Given the description of an element on the screen output the (x, y) to click on. 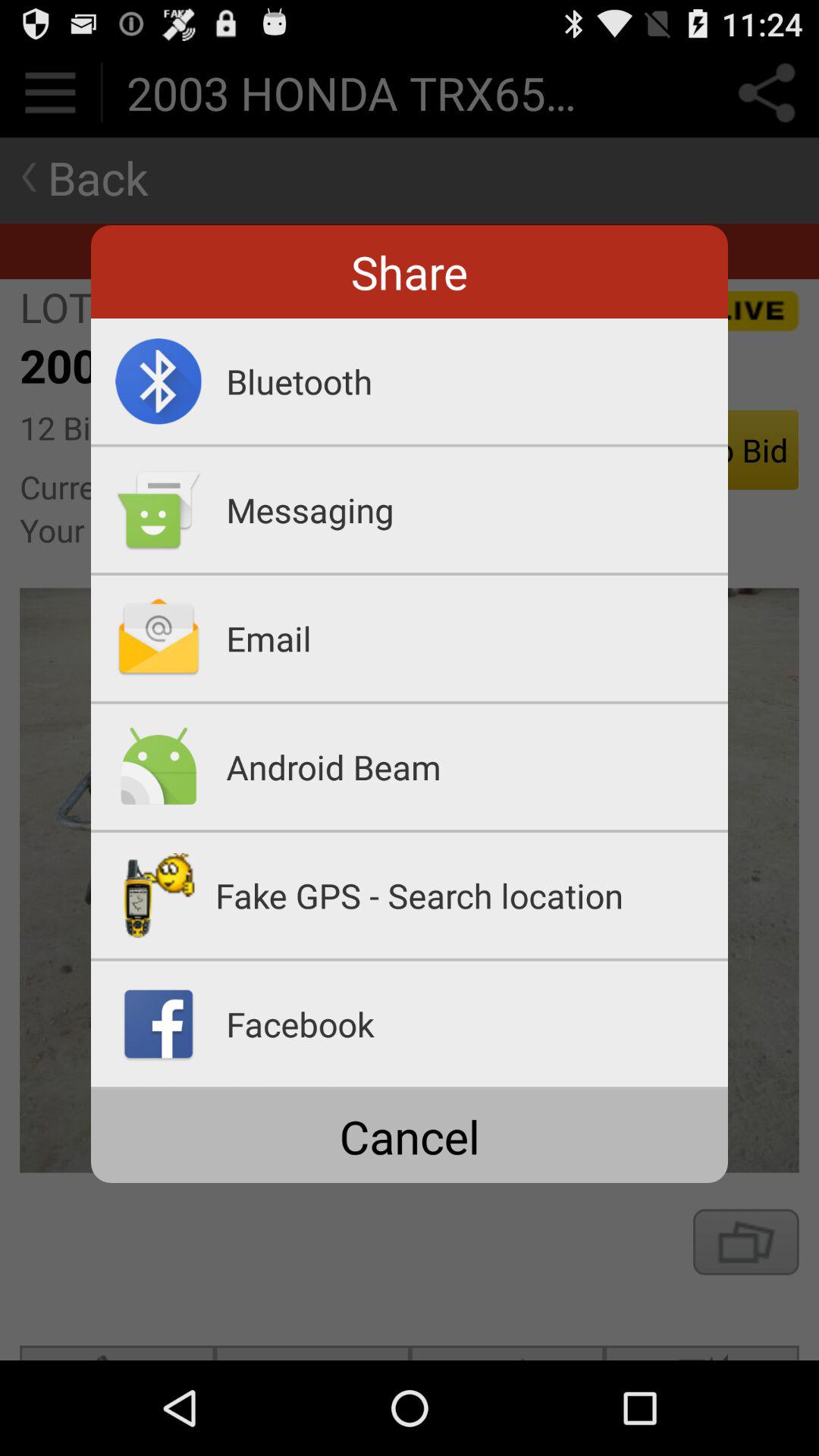
jump until the fake gps search (471, 895)
